Given the description of an element on the screen output the (x, y) to click on. 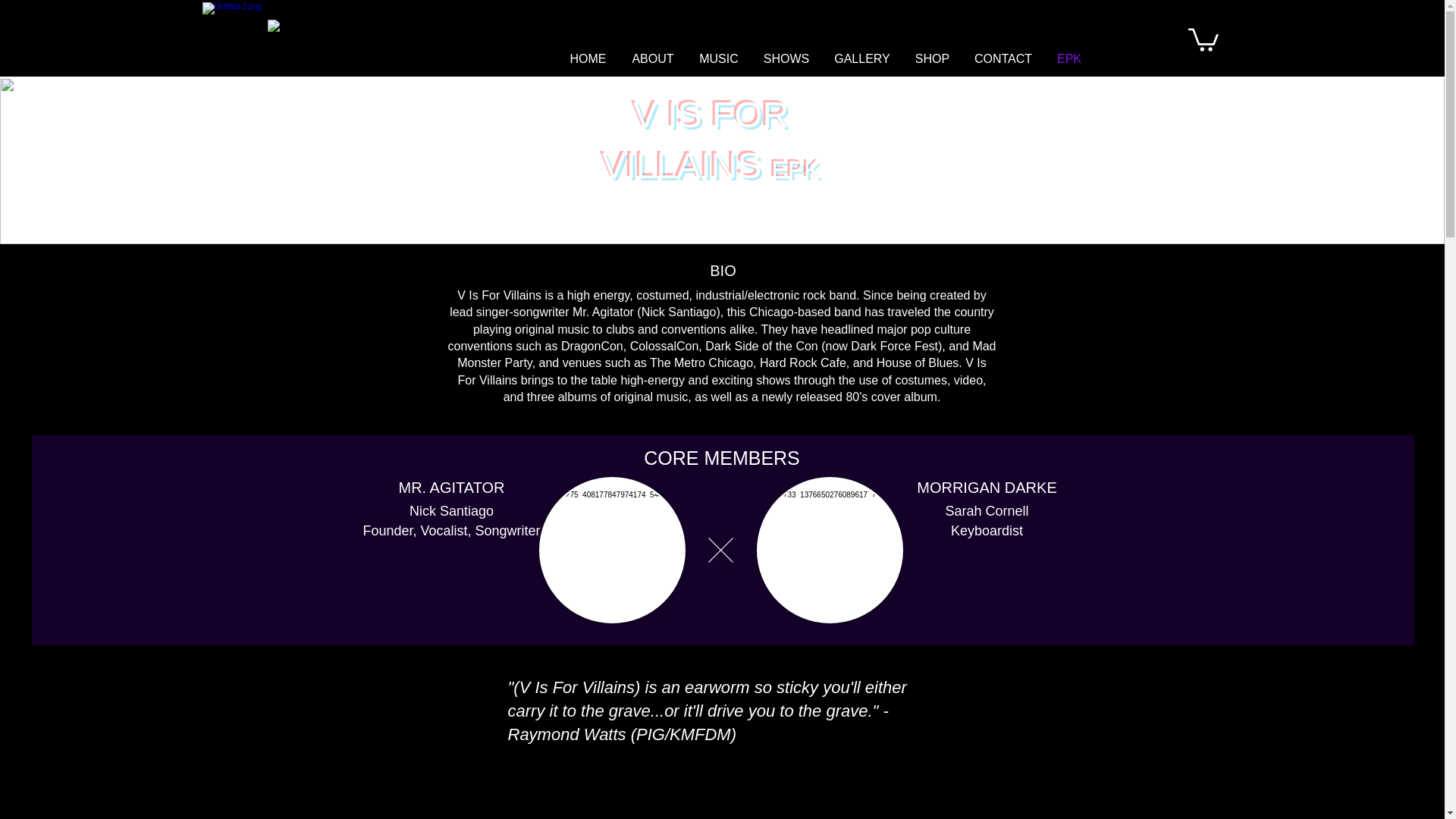
GALLERY (862, 58)
HOME (587, 58)
SHOWS (786, 58)
CONTACT (1001, 58)
MUSIC (719, 58)
SHOP (931, 58)
EPK (1069, 58)
ABOUT (651, 58)
